Given the description of an element on the screen output the (x, y) to click on. 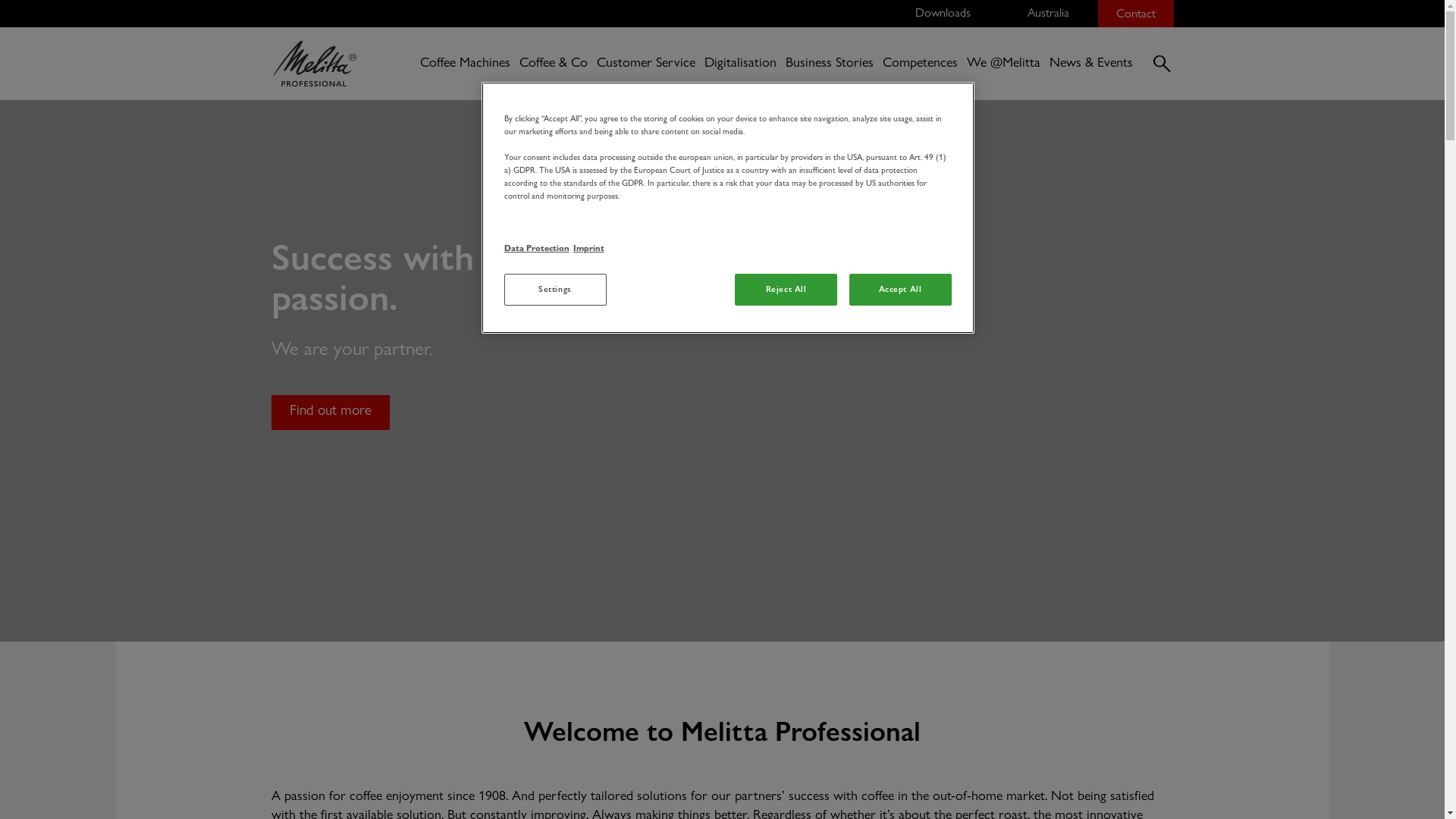
Customer Service Element type: text (645, 63)
Coffee Machines Element type: text (464, 63)
News & Events Element type: text (1090, 63)
Reject All Element type: text (785, 289)
Accept All Element type: text (900, 289)
Business Stories Element type: text (829, 63)
Find out more Element type: text (330, 412)
Australia Element type: text (1042, 13)
We @Melitta Element type: text (1003, 63)
Settings Element type: text (554, 289)
Imprint Element type: text (588, 248)
Competences Element type: text (920, 63)
Coffee & Co Element type: text (553, 63)
Data Protection Element type: text (535, 260)
Contact Element type: text (1135, 13)
Downloads Element type: text (942, 13)
Digitalisation Element type: text (740, 63)
